Given the description of an element on the screen output the (x, y) to click on. 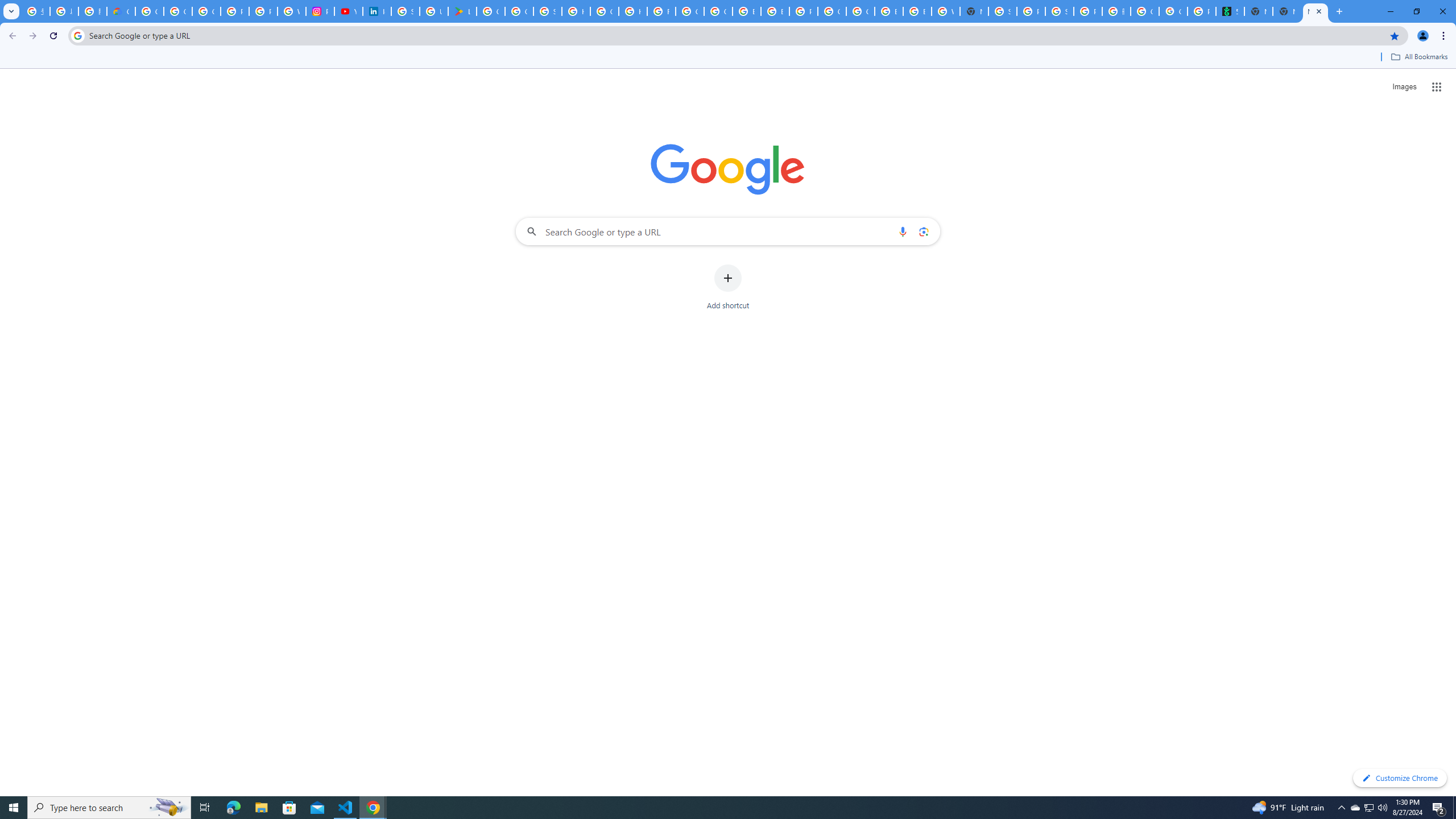
New Tab (1287, 11)
Last Shelter: Survival - Apps on Google Play (461, 11)
